Given the description of an element on the screen output the (x, y) to click on. 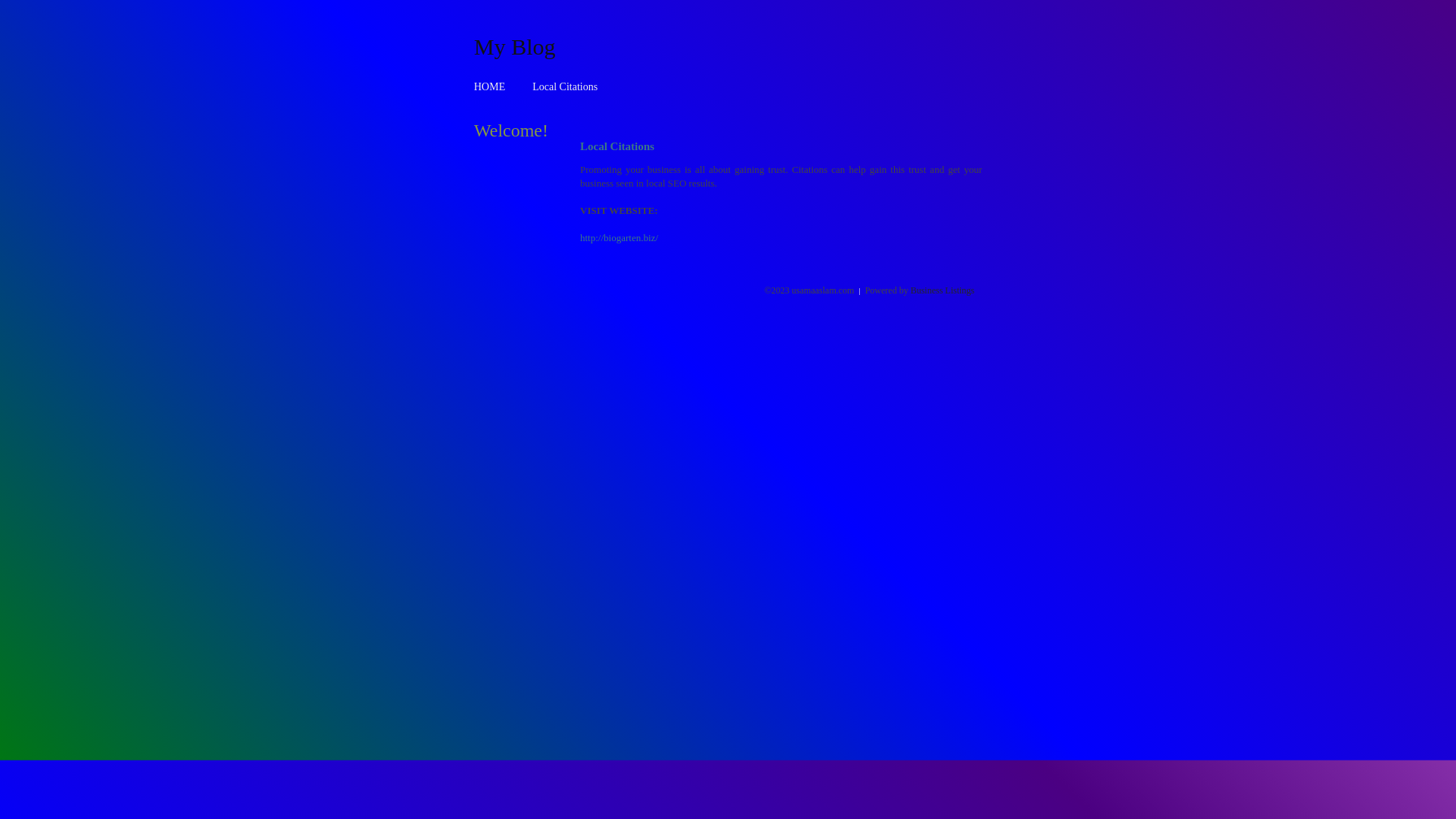
Business Listings Element type: text (942, 290)
Local Citations Element type: text (564, 86)
HOME Element type: text (489, 86)
My Blog Element type: text (514, 46)
http://biogarten.biz/ Element type: text (619, 237)
